Given the description of an element on the screen output the (x, y) to click on. 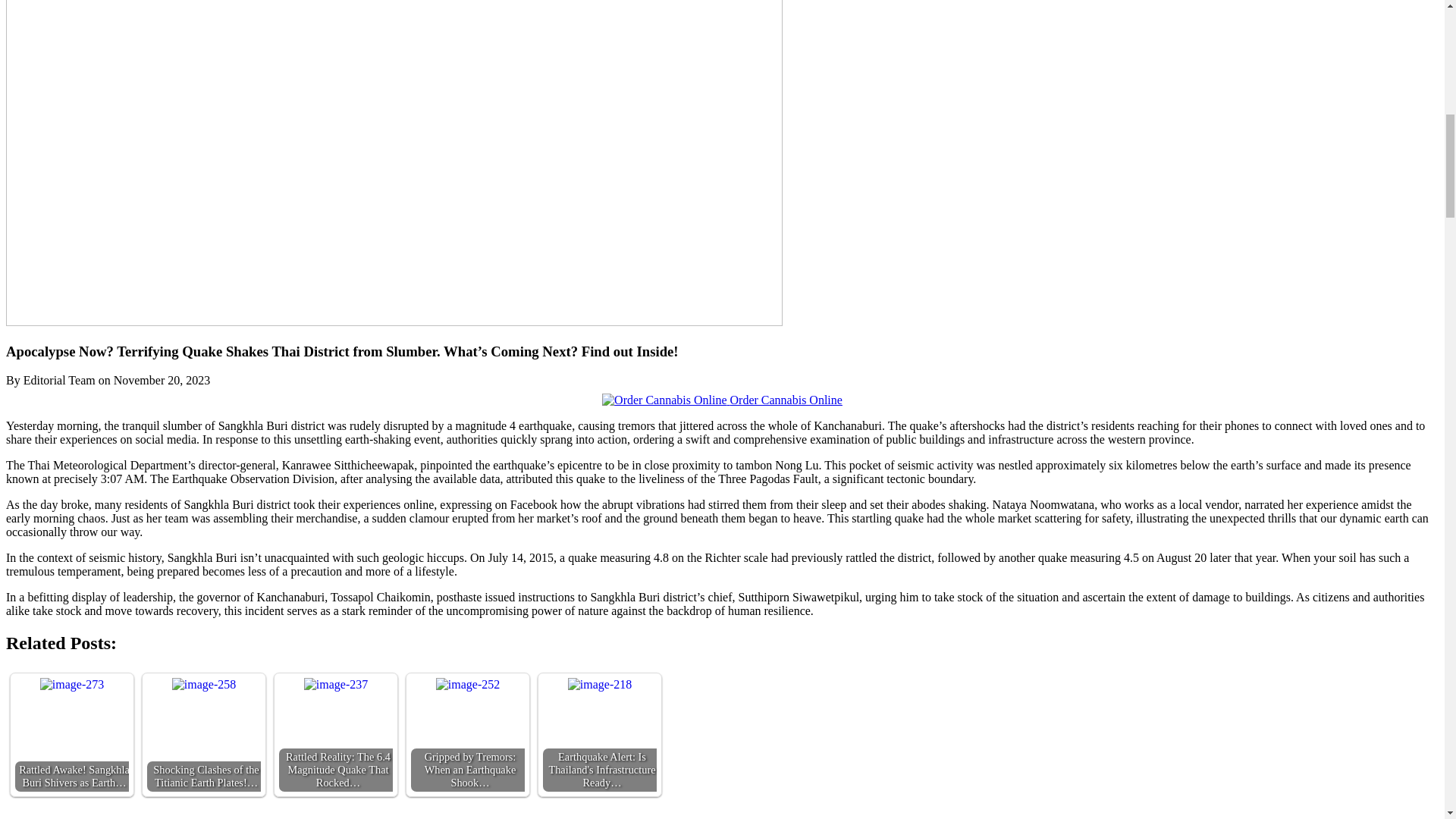
Order Cannabis Online (722, 399)
